Given the description of an element on the screen output the (x, y) to click on. 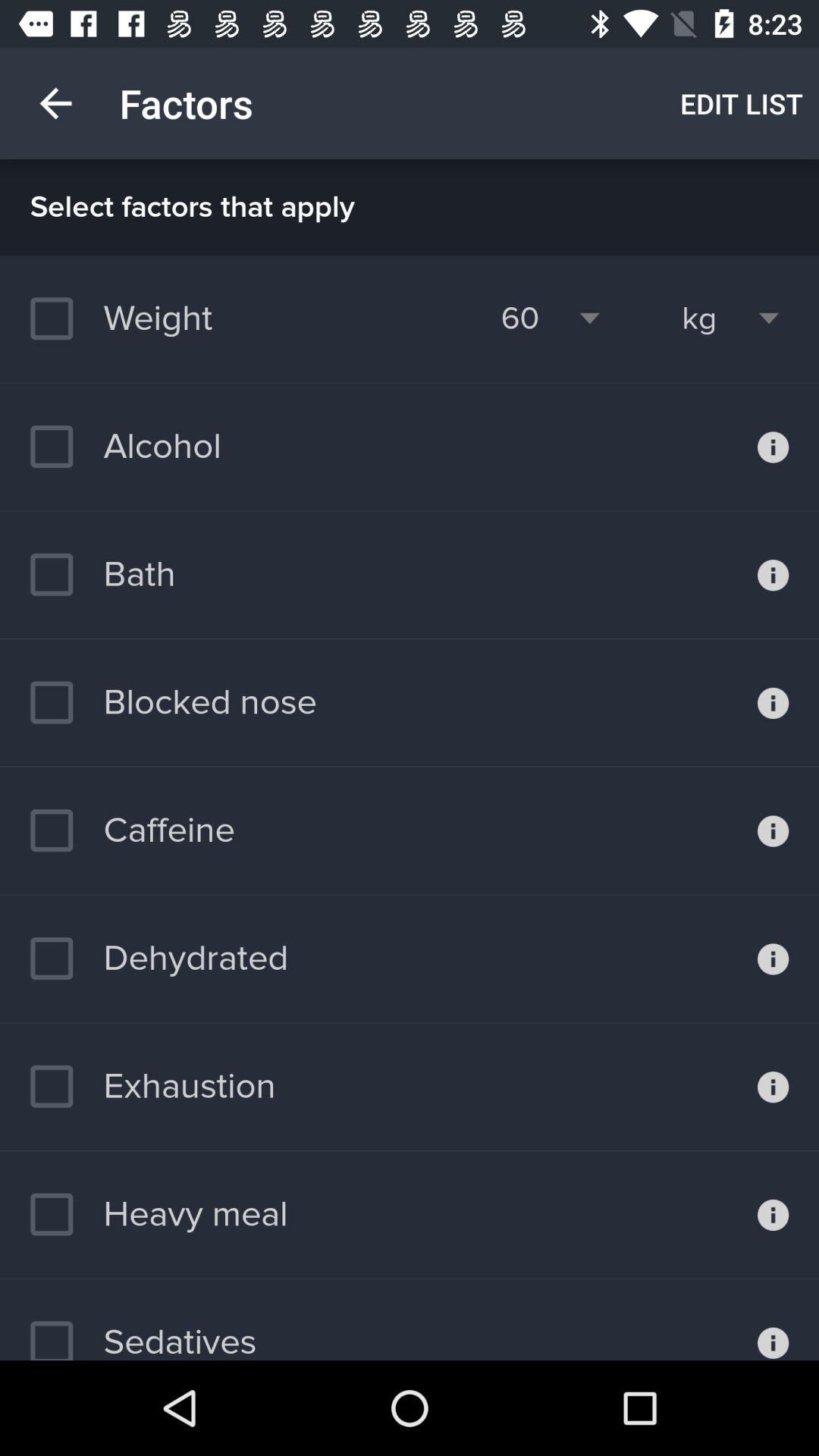
open the item below the heavy meal icon (143, 1332)
